Given the description of an element on the screen output the (x, y) to click on. 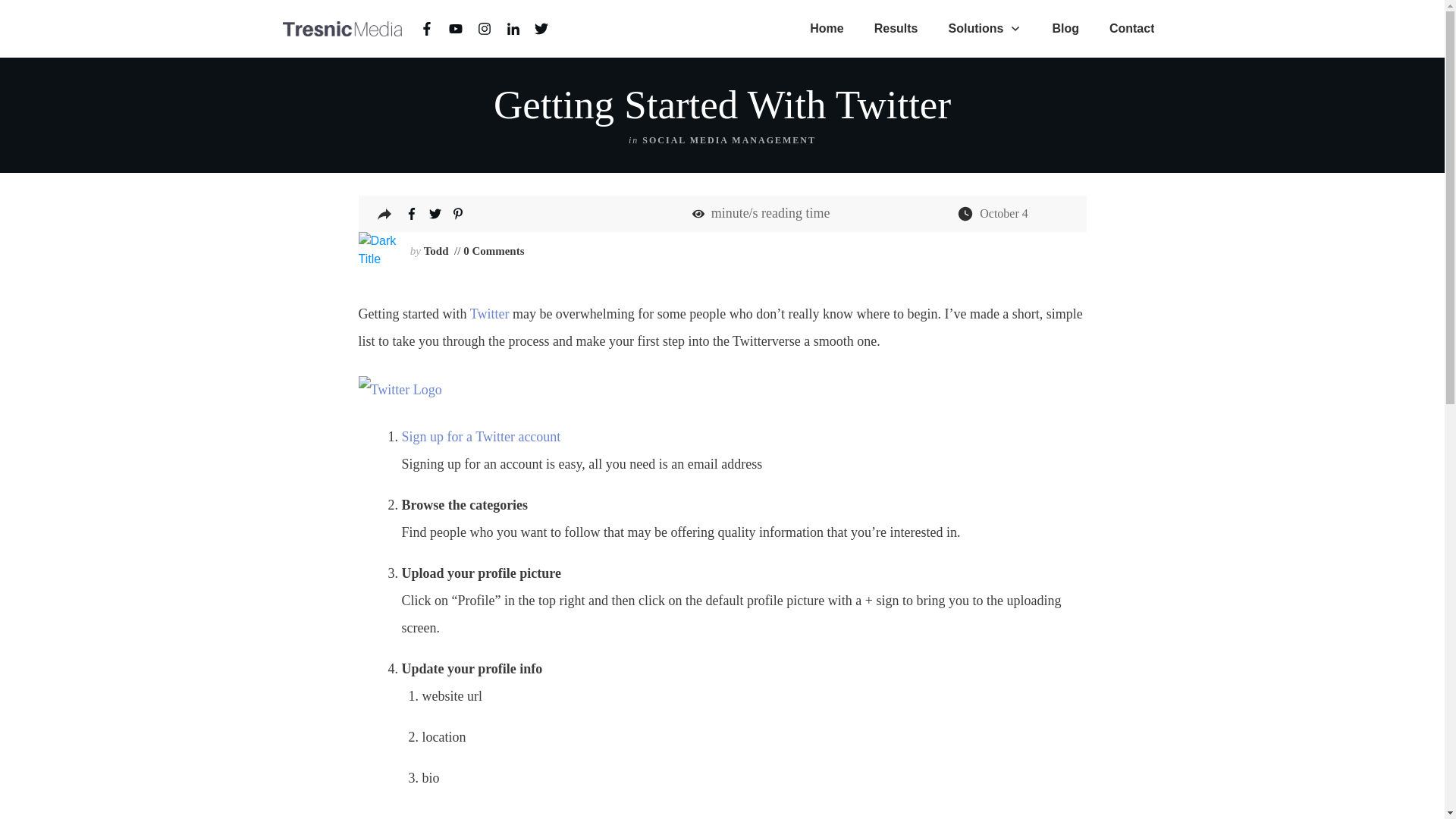
Digital Marketing Solutions (984, 28)
Dark Title Banner With Offscreen Sidebar (377, 250)
Social Media Management (728, 140)
Contact (1131, 28)
October 4  (1003, 213)
Twitter (489, 313)
Twitter (489, 313)
October 4 (1003, 213)
Home (826, 28)
Results (896, 28)
